Given the description of an element on the screen output the (x, y) to click on. 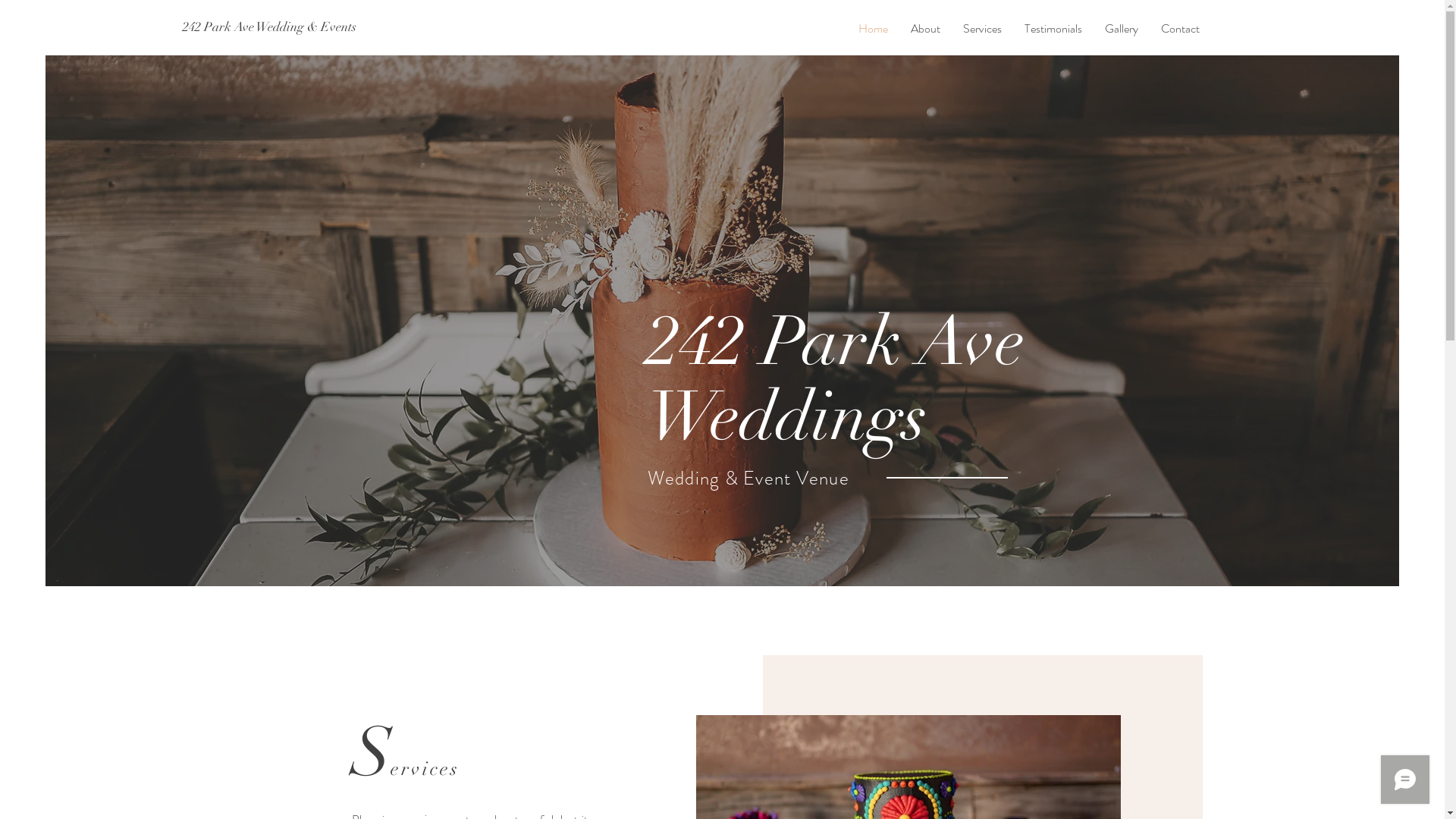
Testimonials Element type: text (1053, 28)
Services Element type: text (981, 28)
About Element type: text (925, 28)
Contact Element type: text (1180, 28)
Home Element type: text (872, 28)
Gallery Element type: text (1121, 28)
242 Park Ave Wedding & Events Element type: text (268, 27)
